Given the description of an element on the screen output the (x, y) to click on. 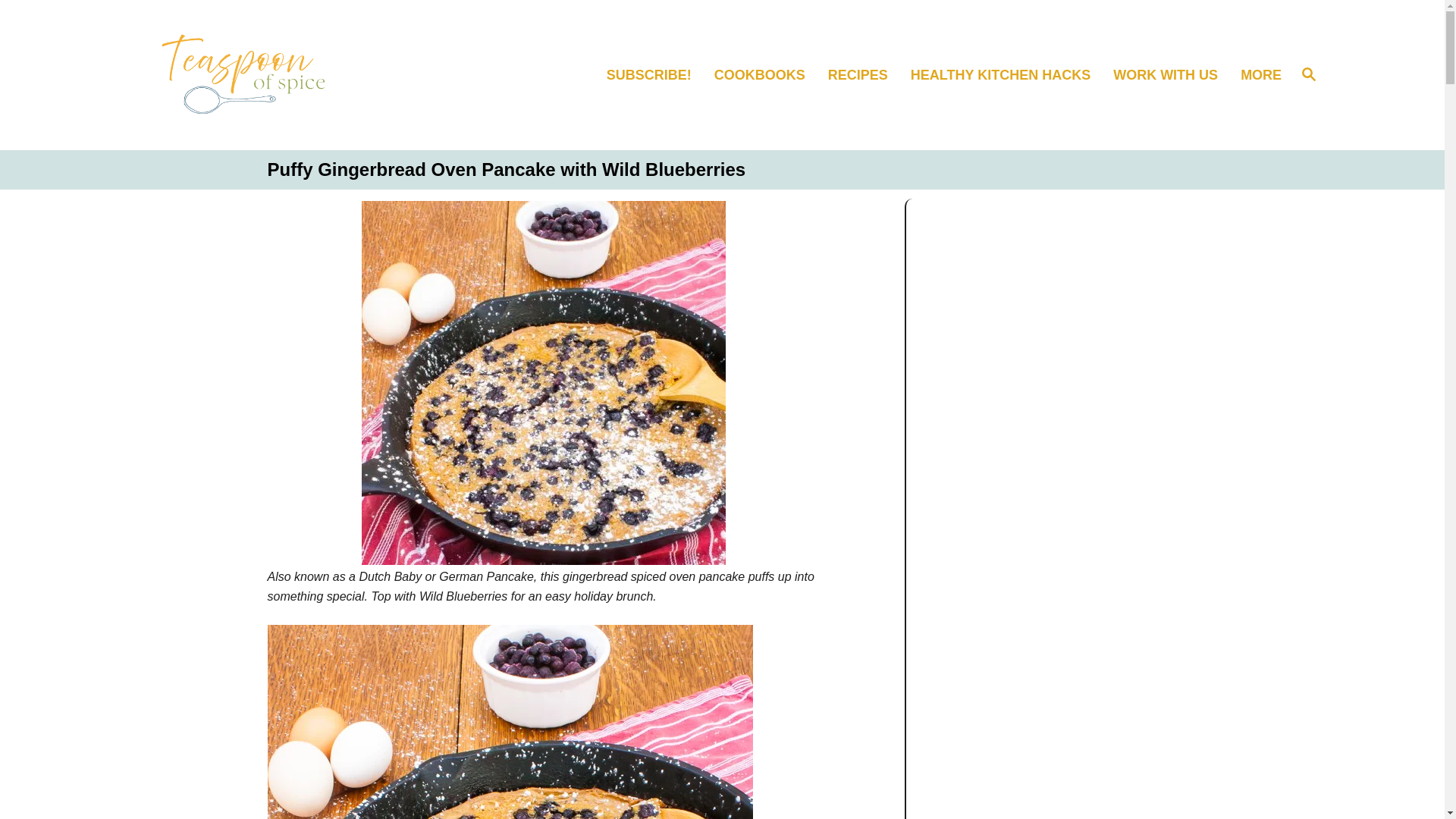
WORK WITH US (1172, 75)
SUBSCRIBE! (656, 75)
MORE (1258, 75)
RECIPES (1308, 75)
COOKBOOKS (864, 75)
HEALTHY KITCHEN HACKS (767, 75)
Magnifying Glass (1006, 75)
